Given the description of an element on the screen output the (x, y) to click on. 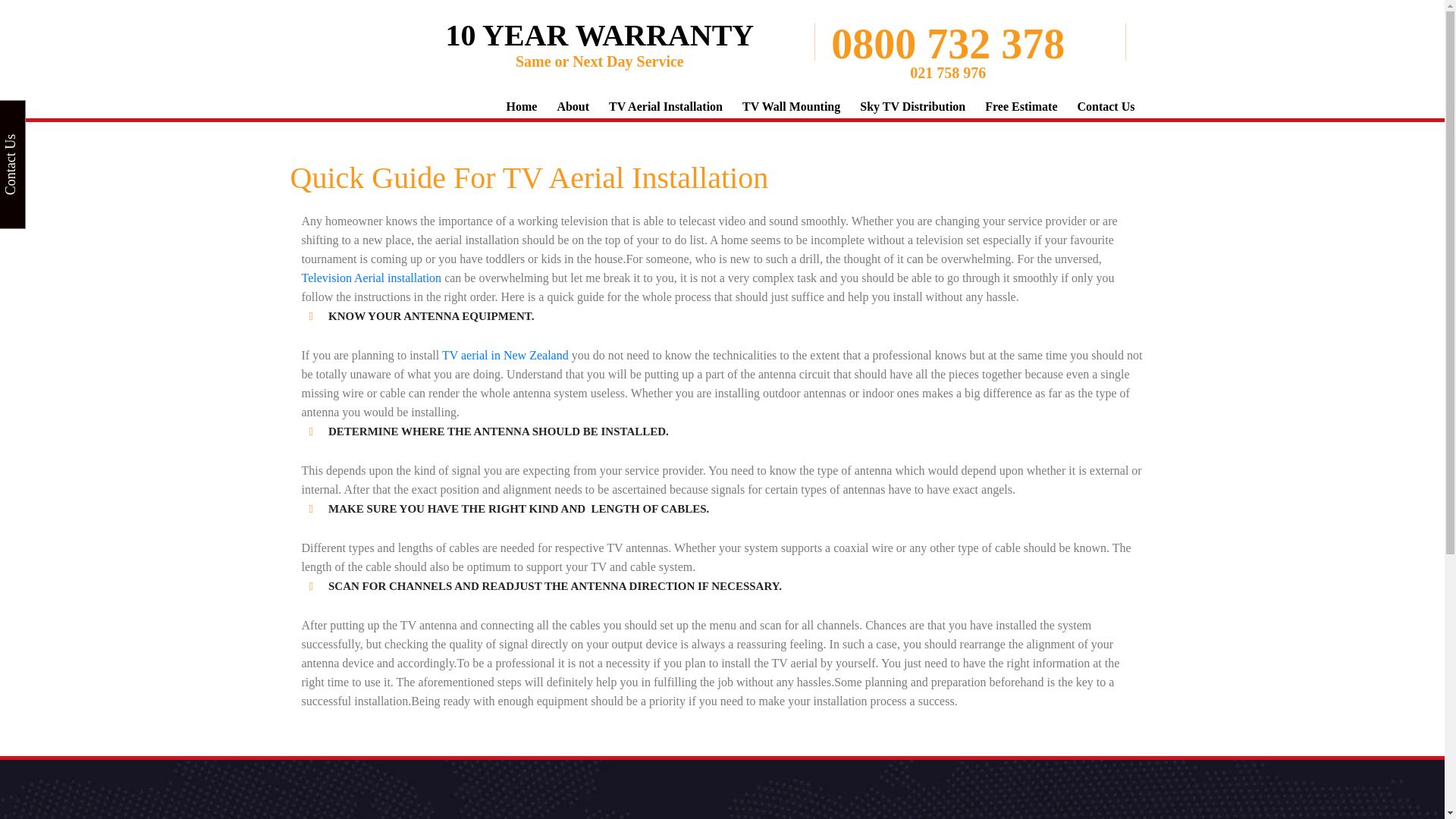
About (571, 106)
Home (521, 106)
Free Estimate (1021, 106)
TV Aerial Installation (664, 106)
021 758 976 (947, 72)
Contact Us (1105, 106)
TV aerial in New Zealand (505, 354)
Television Aerial installation (371, 277)
0800 732 378 (947, 43)
Sky TV Distribution (912, 106)
TV Wall Mounting (790, 106)
